Given the description of an element on the screen output the (x, y) to click on. 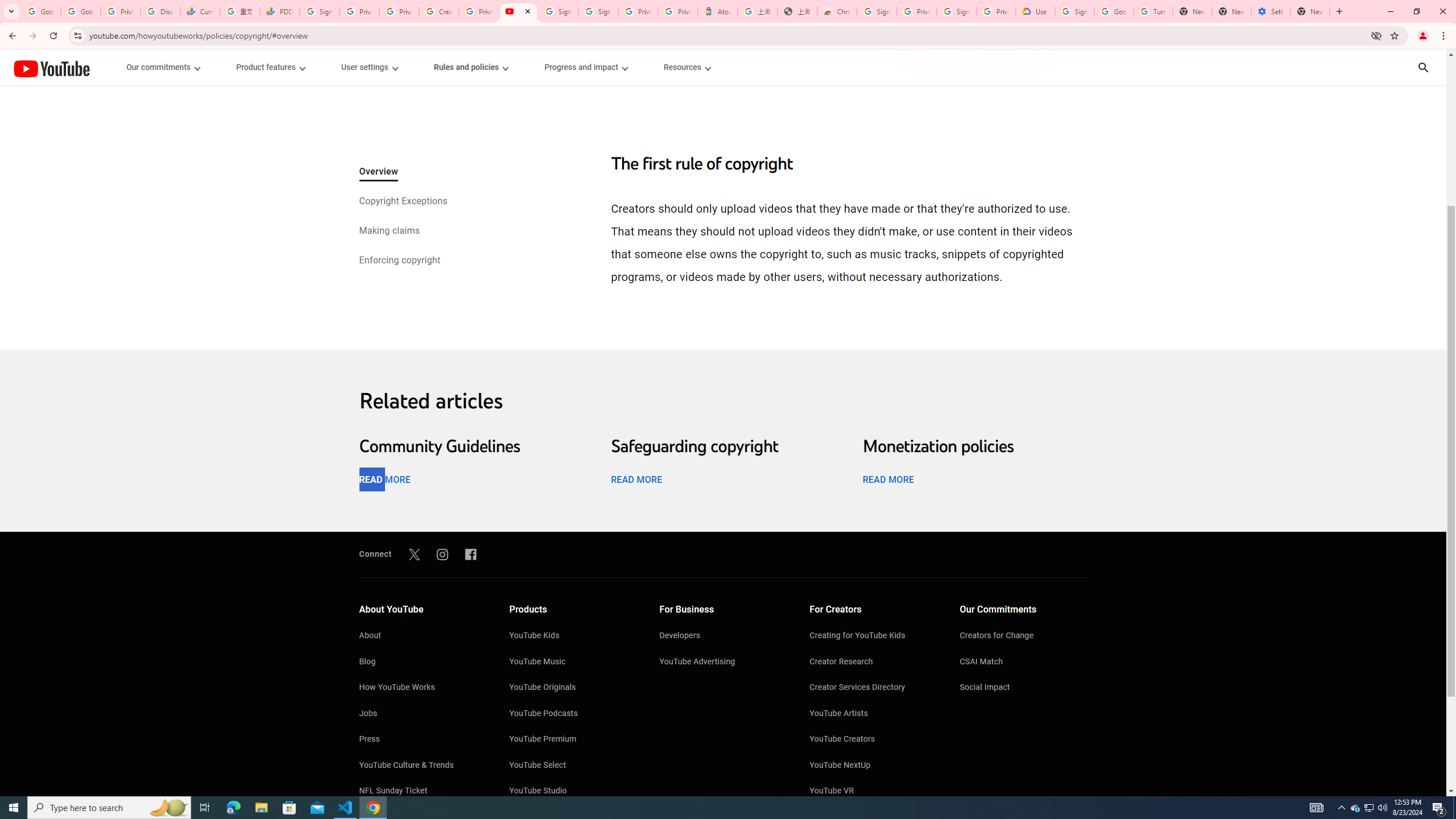
Privacy Checkup (398, 11)
Sign in - Google Accounts (598, 11)
READ MORE (887, 478)
Making claims (389, 231)
Creator Research (873, 662)
YouTube Advertising (723, 662)
Blog (422, 662)
